Given the description of an element on the screen output the (x, y) to click on. 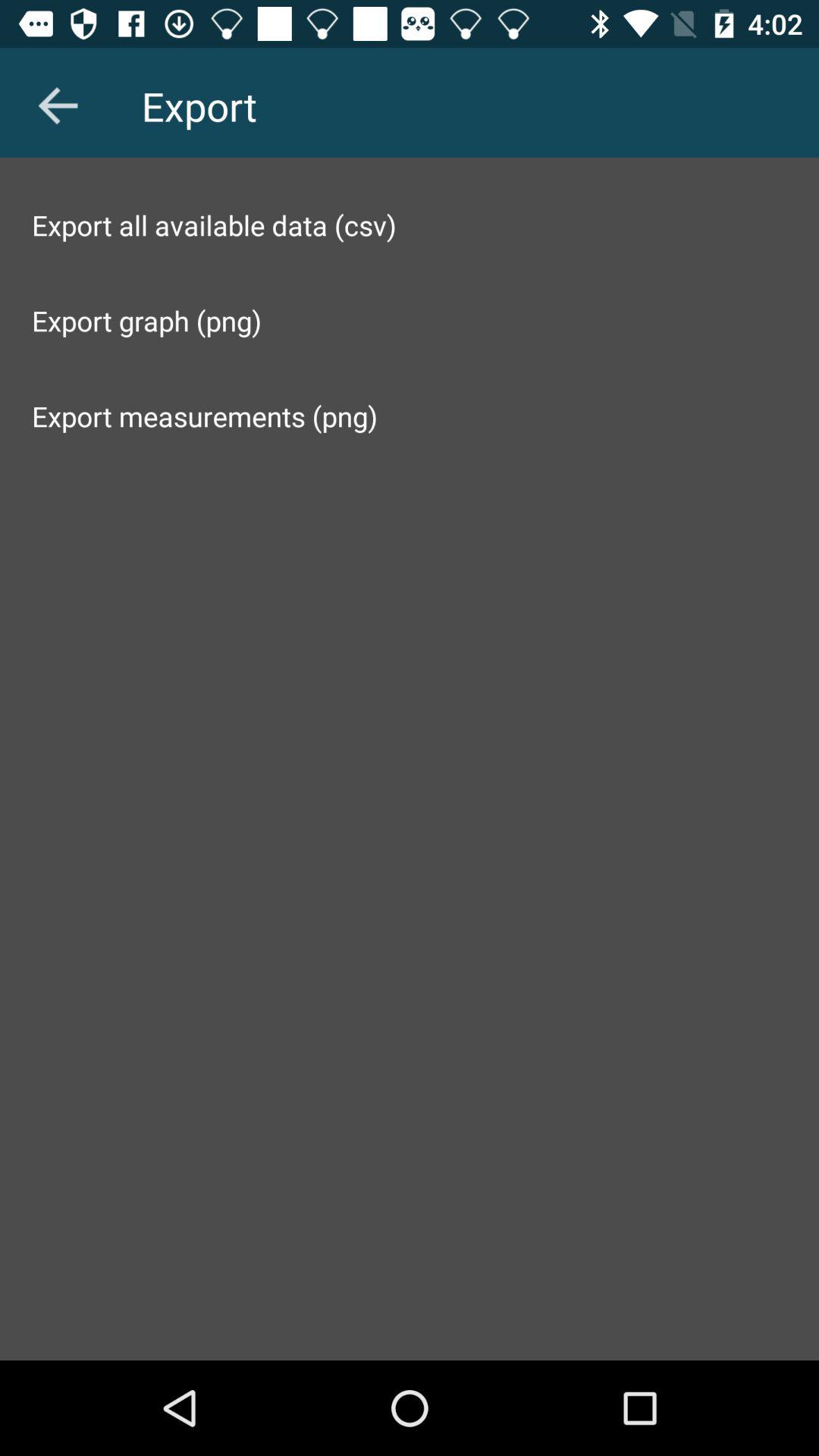
select icon next to export (57, 105)
